Given the description of an element on the screen output the (x, y) to click on. 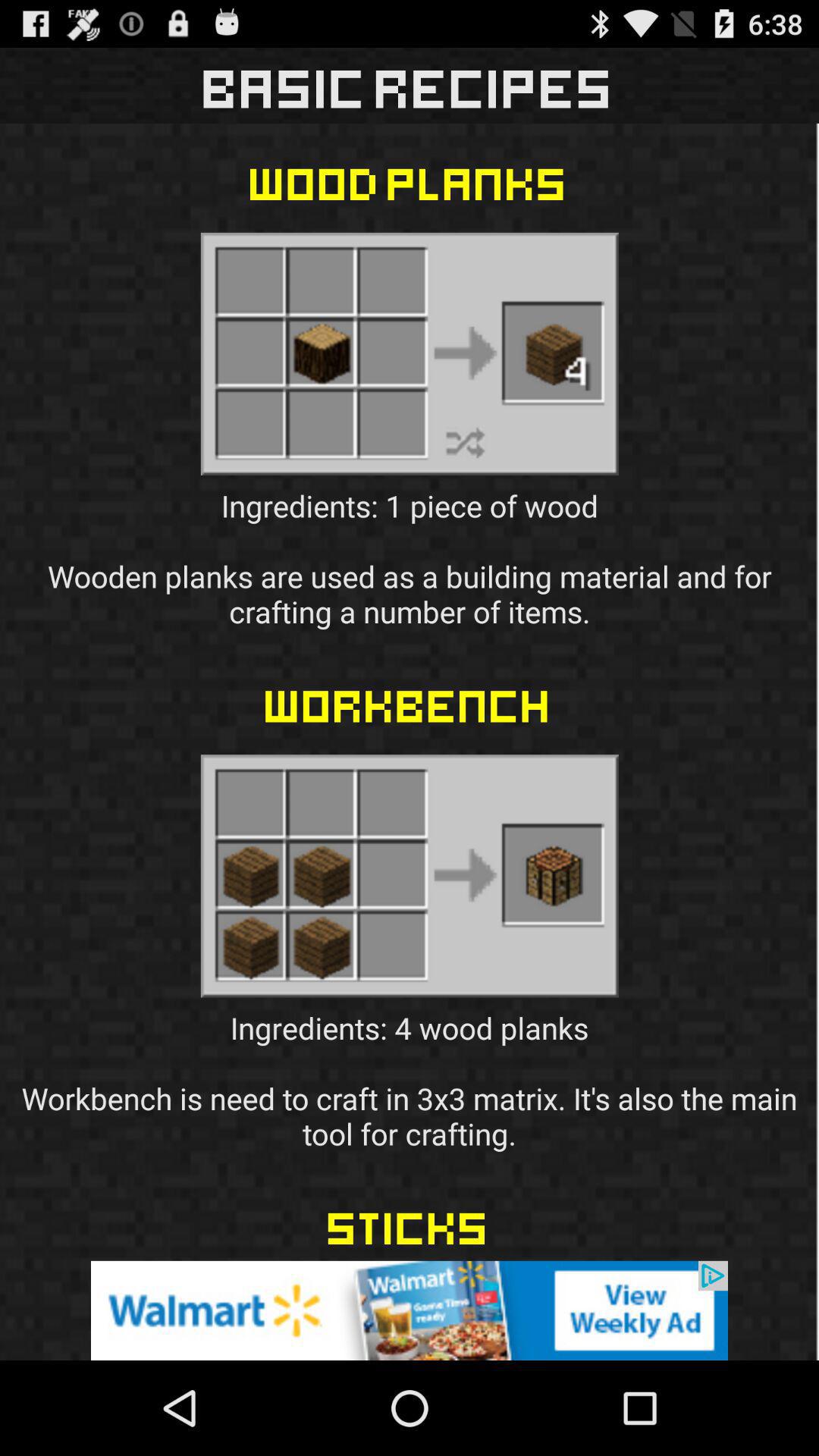
select icon below the ingredients 4 wood item (409, 1310)
